Given the description of an element on the screen output the (x, y) to click on. 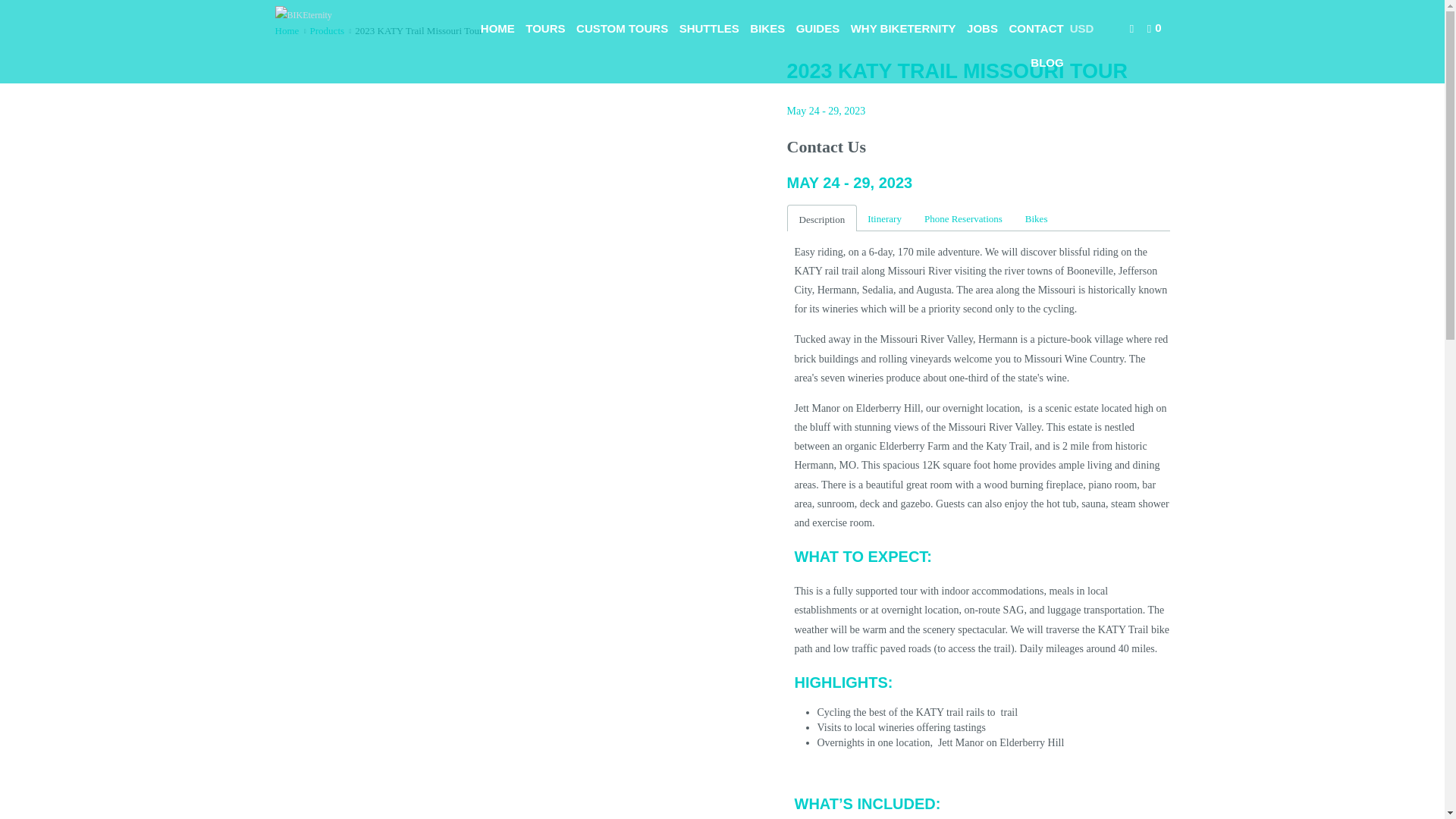
Home (286, 30)
SHUTTLES (709, 28)
Phone Reservations (962, 219)
BIKEternity (352, 15)
WHY BIKETERNITY (903, 28)
CUSTOM TOURS (622, 28)
BLOG (1046, 62)
BIKEternity (286, 30)
GUIDES (818, 28)
Description (822, 217)
